Given the description of an element on the screen output the (x, y) to click on. 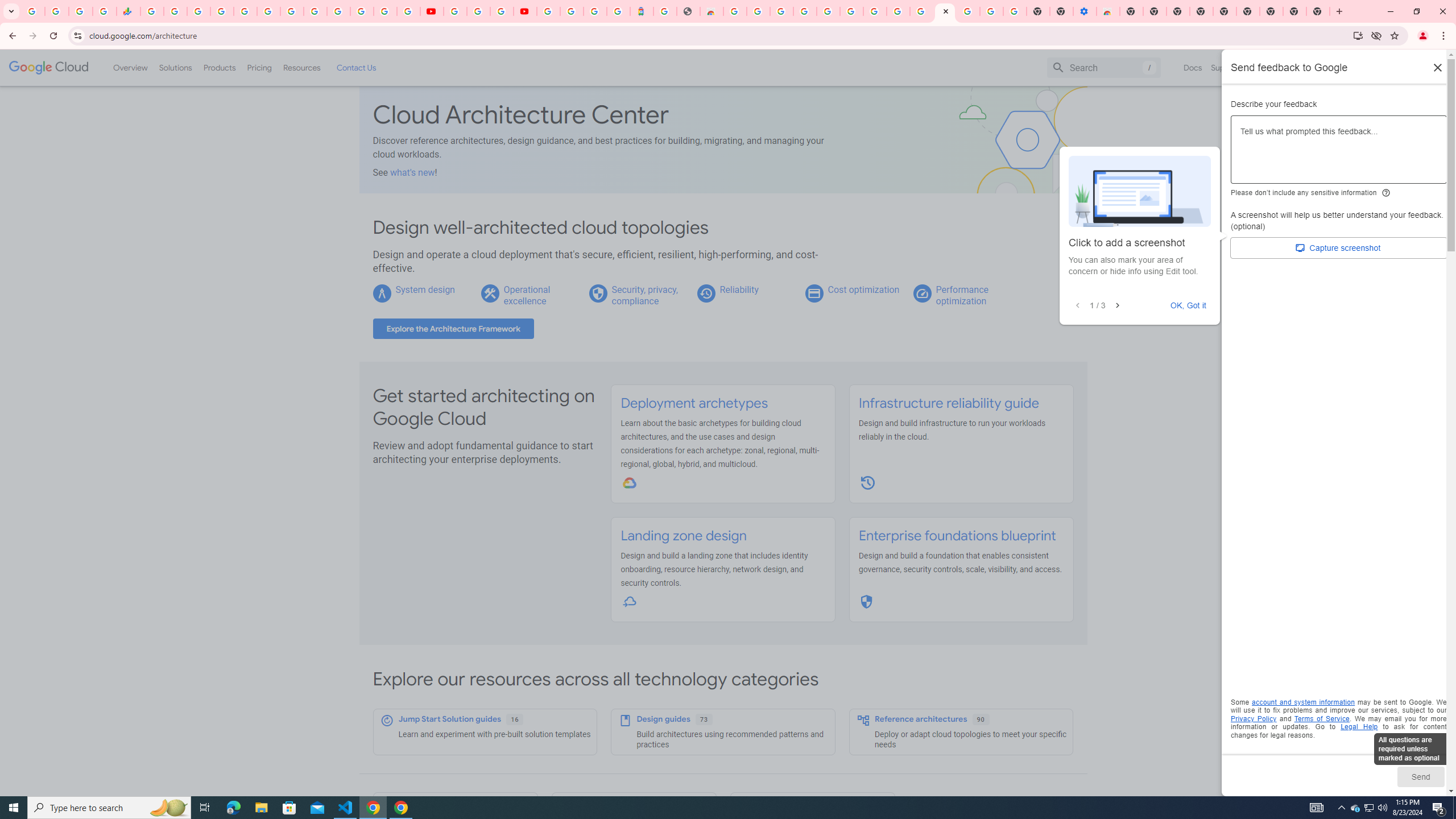
Solutions (175, 67)
Google Account Help (478, 11)
Sign in - Google Accounts (338, 11)
YouTube (314, 11)
Cost optimization (863, 289)
Opens in a new tab. Terms of Service (1321, 718)
Contact Us (355, 67)
Privacy Checkup (408, 11)
Chrome Web Store - Household (711, 11)
Explore the Architecture Framework (453, 328)
Performance optimization (962, 295)
Sign in - Google Accounts (221, 11)
